Given the description of an element on the screen output the (x, y) to click on. 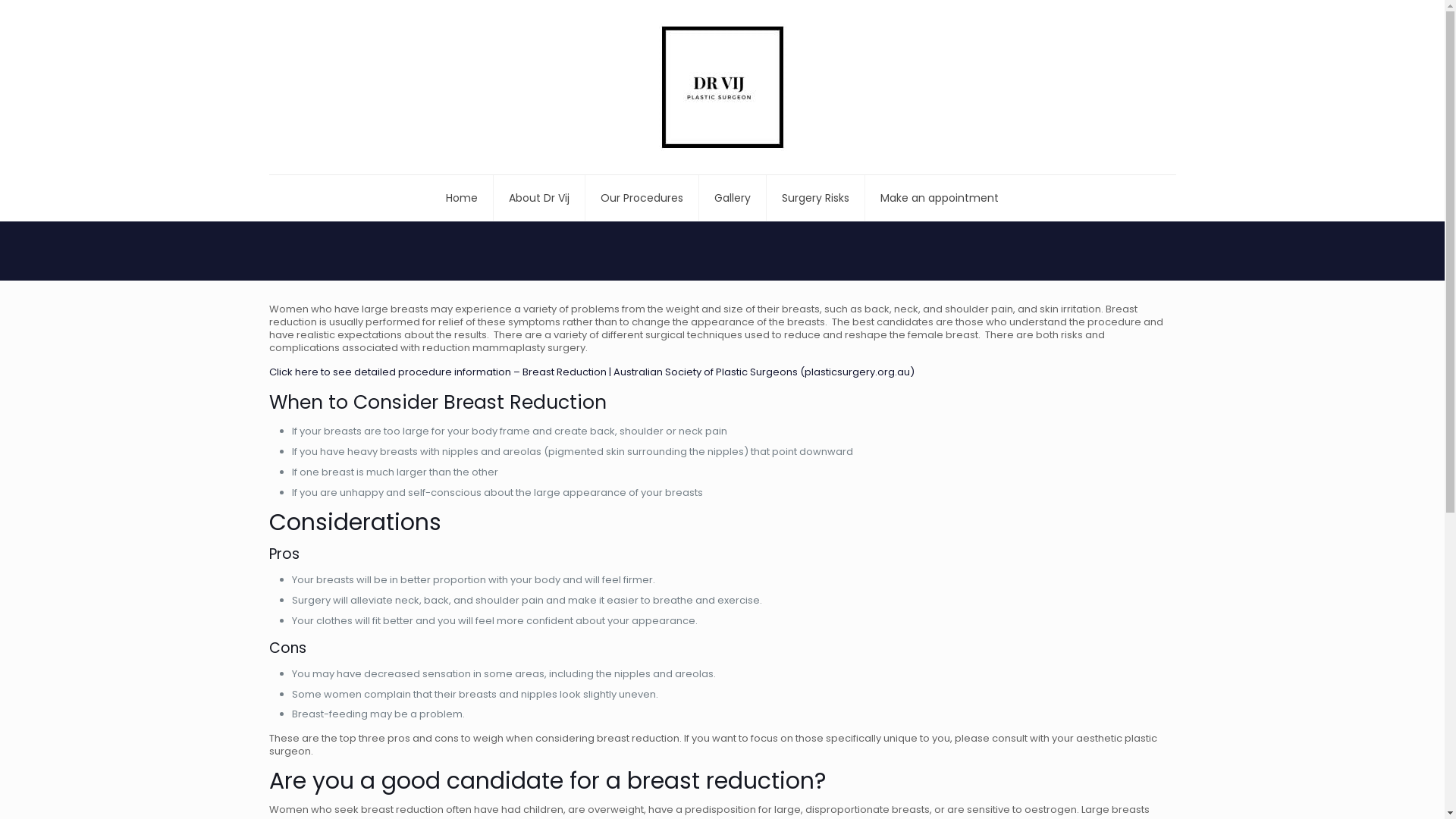
Our Procedures Element type: text (642, 197)
About Dr Vij Element type: text (539, 197)
Home Element type: text (461, 197)
Dr Vij Plastic Surgeon Perth Element type: hover (721, 87)
Make an appointment Element type: text (939, 197)
Surgery Risks Element type: text (815, 197)
Gallery Element type: text (732, 197)
